Given the description of an element on the screen output the (x, y) to click on. 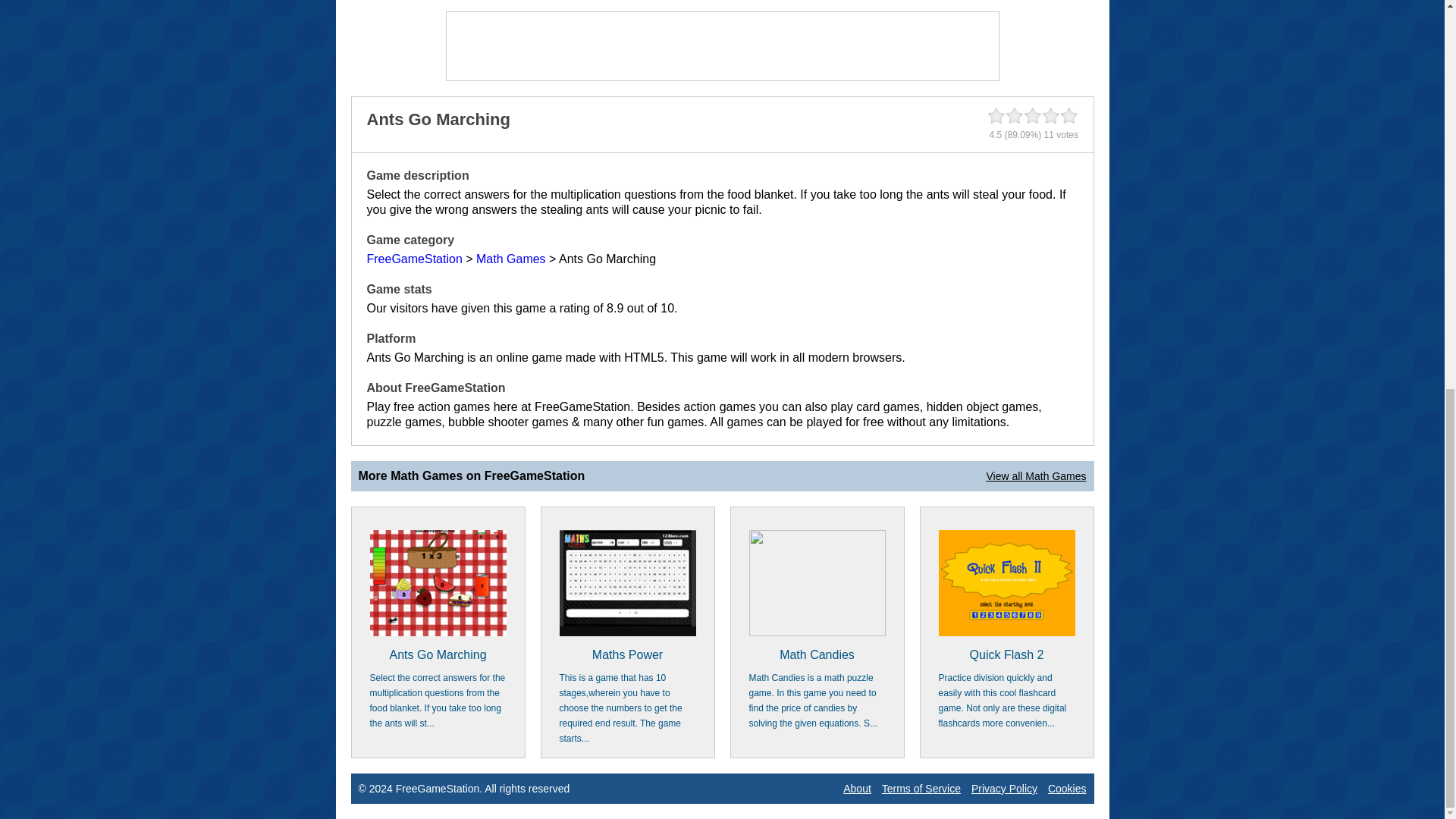
About (856, 788)
Cookies (1067, 788)
Go to FreeGameStation. (414, 258)
3rd party ad content (721, 46)
Terms of Service (921, 788)
View all Math Games (1035, 476)
FreeGameStation (414, 258)
Go to the Math Games category archives. (511, 258)
Math Games (511, 258)
Privacy Policy (1003, 788)
